Given the description of an element on the screen output the (x, y) to click on. 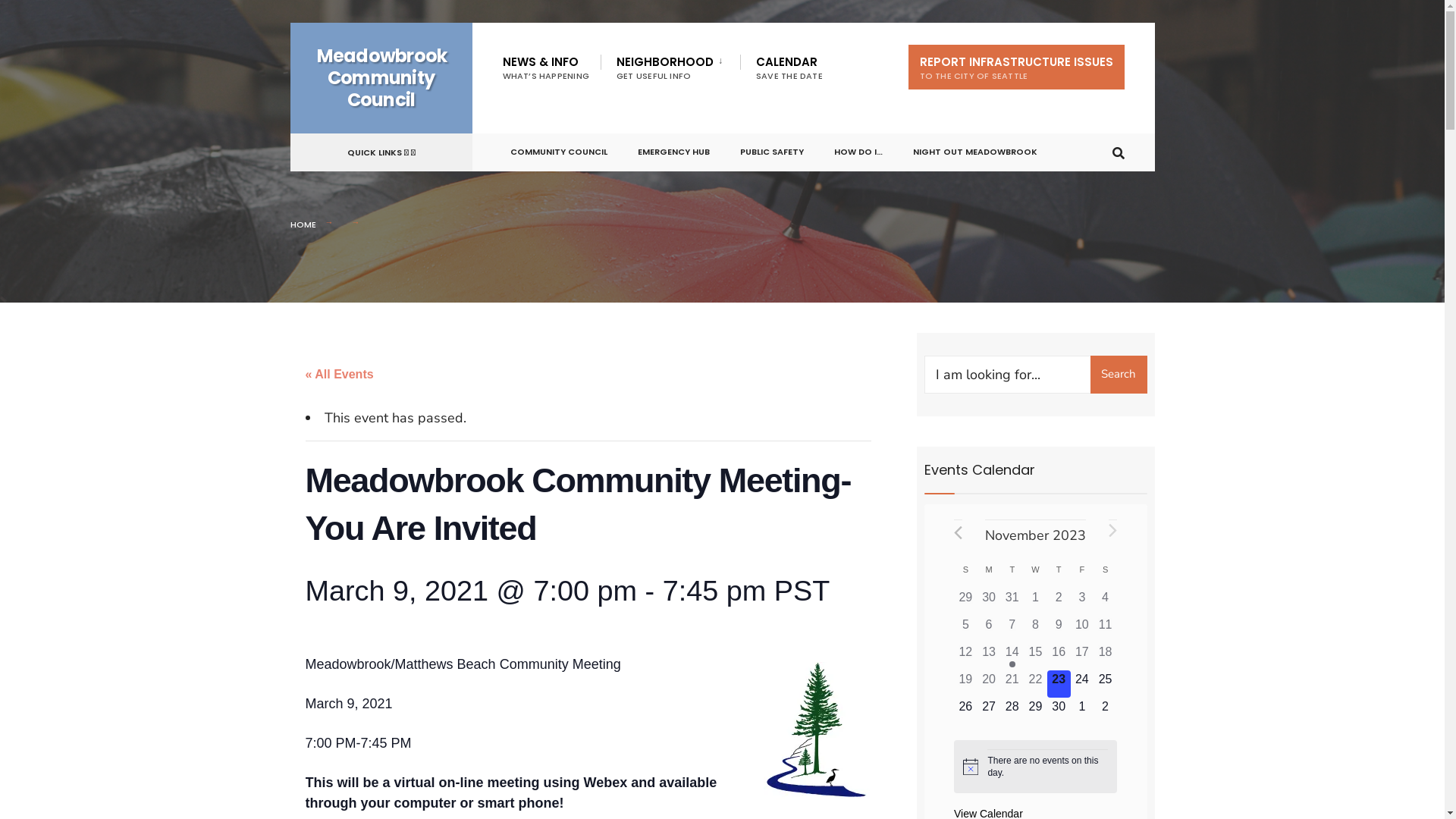
0 events,
28 Element type: text (1011, 710)
0 events,
1 Element type: text (1035, 601)
Previous month Element type: hover (957, 532)
0 events,
5 Element type: text (965, 629)
COMMUNITY COUNCIL Element type: text (557, 148)
0 events,
27 Element type: text (989, 710)
Next month Element type: hover (1112, 532)
0 events,
25 Element type: text (1105, 683)
0 events,
12 Element type: text (965, 656)
0 events,
29 Element type: text (1035, 710)
0 events,
6 Element type: text (989, 629)
REPORT INFRASTRUCTURE ISSUES
TO THE CITY OF SEATTLE Element type: text (1016, 66)
NIGHT OUT MEADOWBROOK Element type: text (975, 148)
NEIGHBORHOOD
GET USEFUL INFO Element type: text (672, 66)
0 events,
26 Element type: text (965, 710)
0 events,
23 Element type: text (1058, 683)
0 events,
30 Element type: text (1058, 710)
0 events,
1 Element type: text (1082, 710)
0 events,
21 Element type: text (1011, 683)
EMERGENCY HUB Element type: text (673, 148)
0 events,
30 Element type: text (989, 601)
Meadowbrook Community Council Element type: text (381, 77)
0 events,
20 Element type: text (989, 683)
0 events,
8 Element type: text (1035, 629)
CALENDAR
SAVE THE DATE Element type: text (789, 66)
0 events,
29 Element type: text (965, 601)
0 events,
15 Element type: text (1035, 656)
0 events,
22 Element type: text (1035, 683)
0 events,
31 Element type: text (1011, 601)
0 events,
10 Element type: text (1082, 629)
0 events,
7 Element type: text (1011, 629)
0 events,
3 Element type: text (1082, 601)
0 events,
18 Element type: text (1105, 656)
1 event,
14 Element type: text (1011, 656)
0 events,
17 Element type: text (1082, 656)
0 events,
16 Element type: text (1058, 656)
0 events,
2 Element type: text (1105, 710)
Skip to content Element type: text (289, 21)
Search Element type: text (1118, 374)
0 events,
24 Element type: text (1082, 683)
PUBLIC SAFETY Element type: text (771, 148)
0 events,
2 Element type: text (1058, 601)
0 events,
11 Element type: text (1105, 629)
0 events,
13 Element type: text (989, 656)
HOME Element type: text (302, 224)
0 events,
9 Element type: text (1058, 629)
Has events Element type: hover (1012, 664)
0 events,
4 Element type: text (1105, 601)
0 events,
19 Element type: text (965, 683)
